Given the description of an element on the screen output the (x, y) to click on. 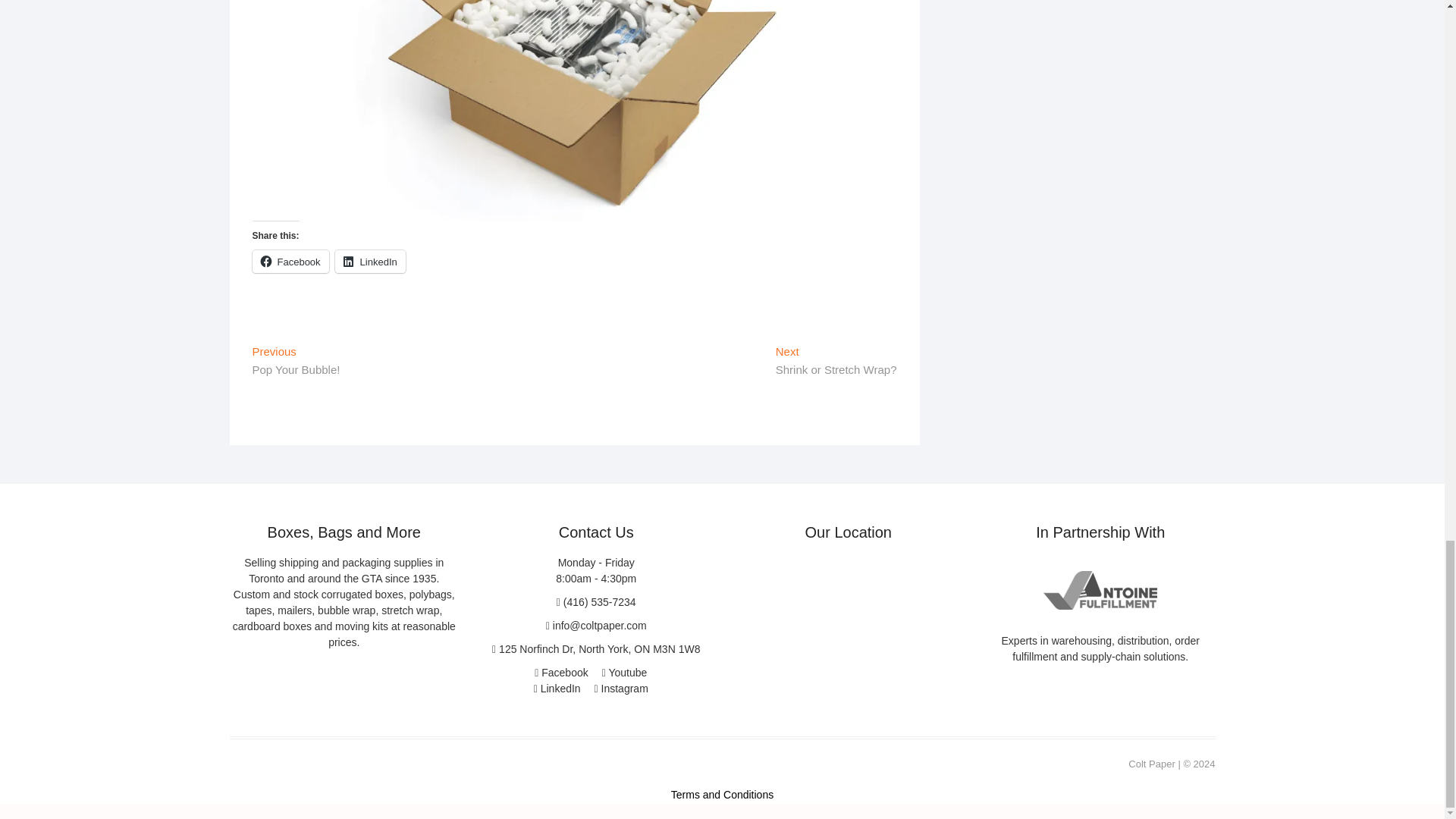
Mail Us (596, 625)
Visit Colt Paper on YouTube (624, 672)
Visit Colt Paper on Facebook (561, 672)
Click to share on LinkedIn (370, 261)
Click to share on Facebook (290, 261)
Call Us (596, 602)
Visit Colt Paper on LinkedIn (557, 688)
Colt Paper (1151, 763)
Visit Colt Paper on Instagram (620, 688)
